Given the description of an element on the screen output the (x, y) to click on. 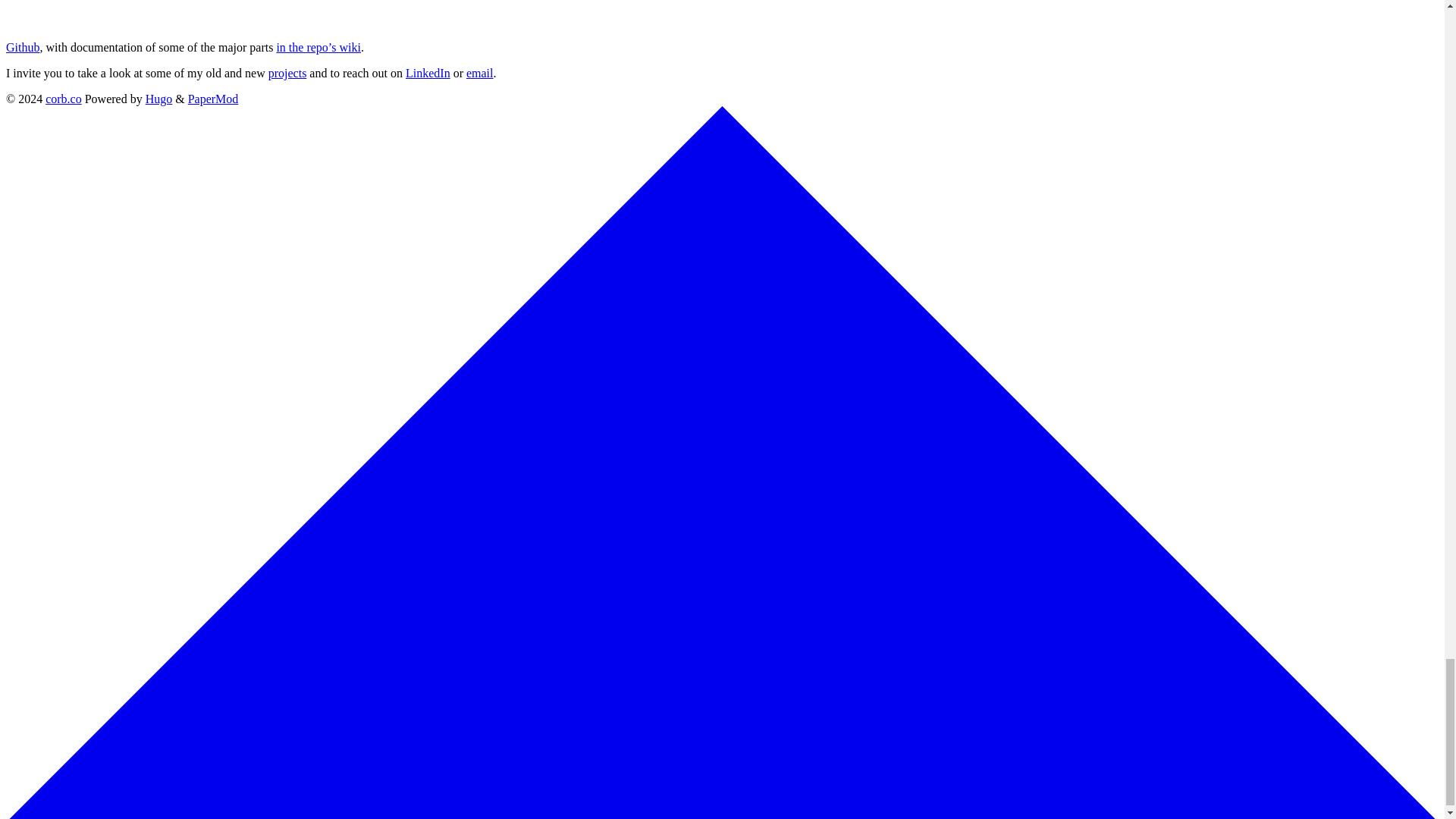
PaperMod (212, 98)
Hugo (159, 98)
LinkedIn (427, 72)
projects (287, 72)
corb.co (63, 98)
email (479, 72)
